Given the description of an element on the screen output the (x, y) to click on. 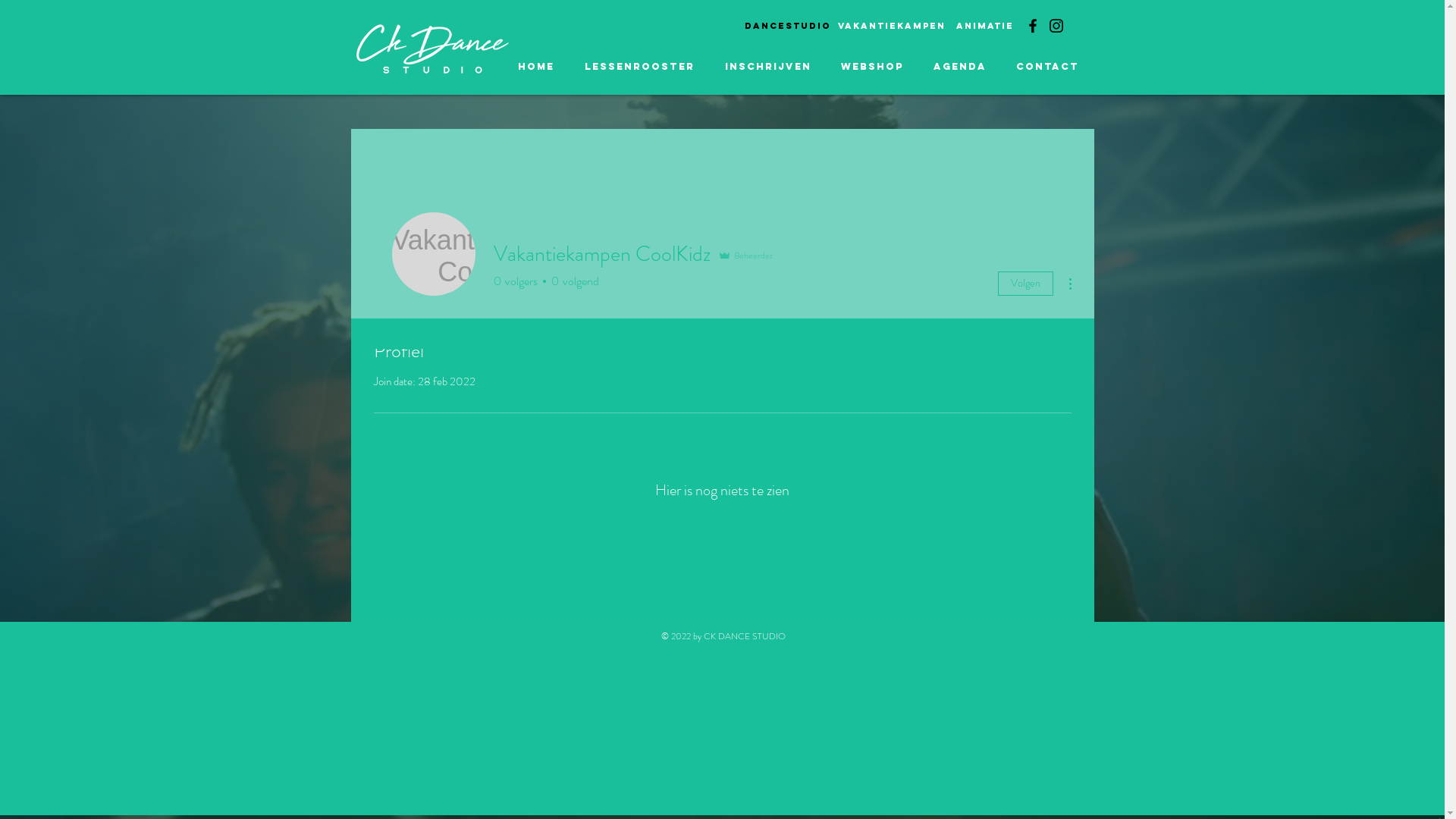
INSCHRIJVEN Element type: text (767, 66)
LESSENROOSTER Element type: text (638, 66)
Profile Element type: text (388, 333)
Volgen Element type: text (1025, 283)
CONTACT Element type: text (1047, 66)
WEBSHOP Element type: text (872, 66)
Animatie Element type: text (982, 25)
0
volgers Element type: text (514, 281)
HOME Element type: text (535, 66)
AGENDA Element type: text (960, 66)
Vakantiekampen CoolKidz Element type: hover (432, 253)
Vakantiekampen Element type: text (890, 25)
0
volgend Element type: text (572, 281)
